Given the description of an element on the screen output the (x, y) to click on. 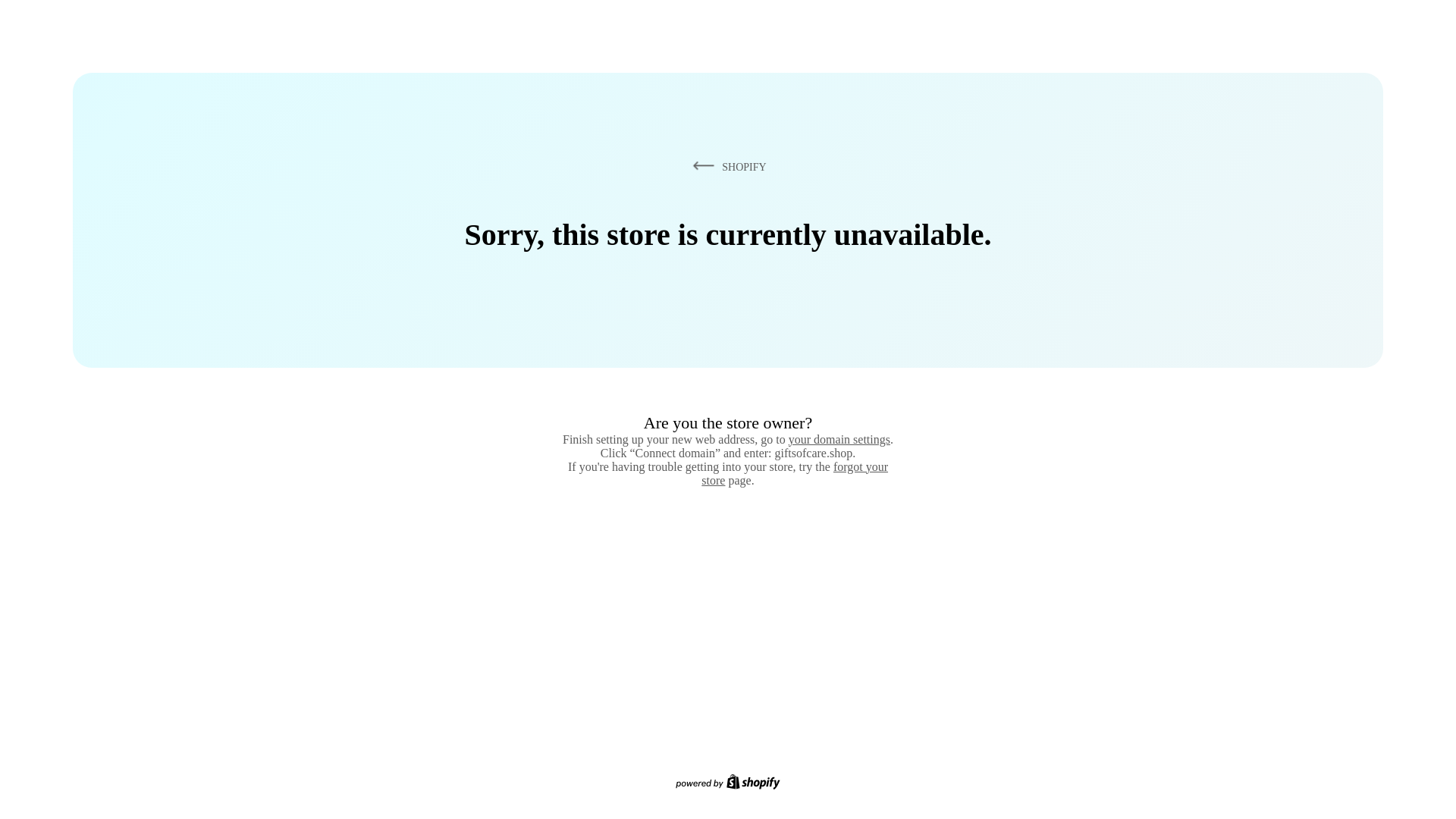
your domain settings (839, 439)
SHOPIFY (726, 166)
forgot your store (794, 473)
